Given the description of an element on the screen output the (x, y) to click on. 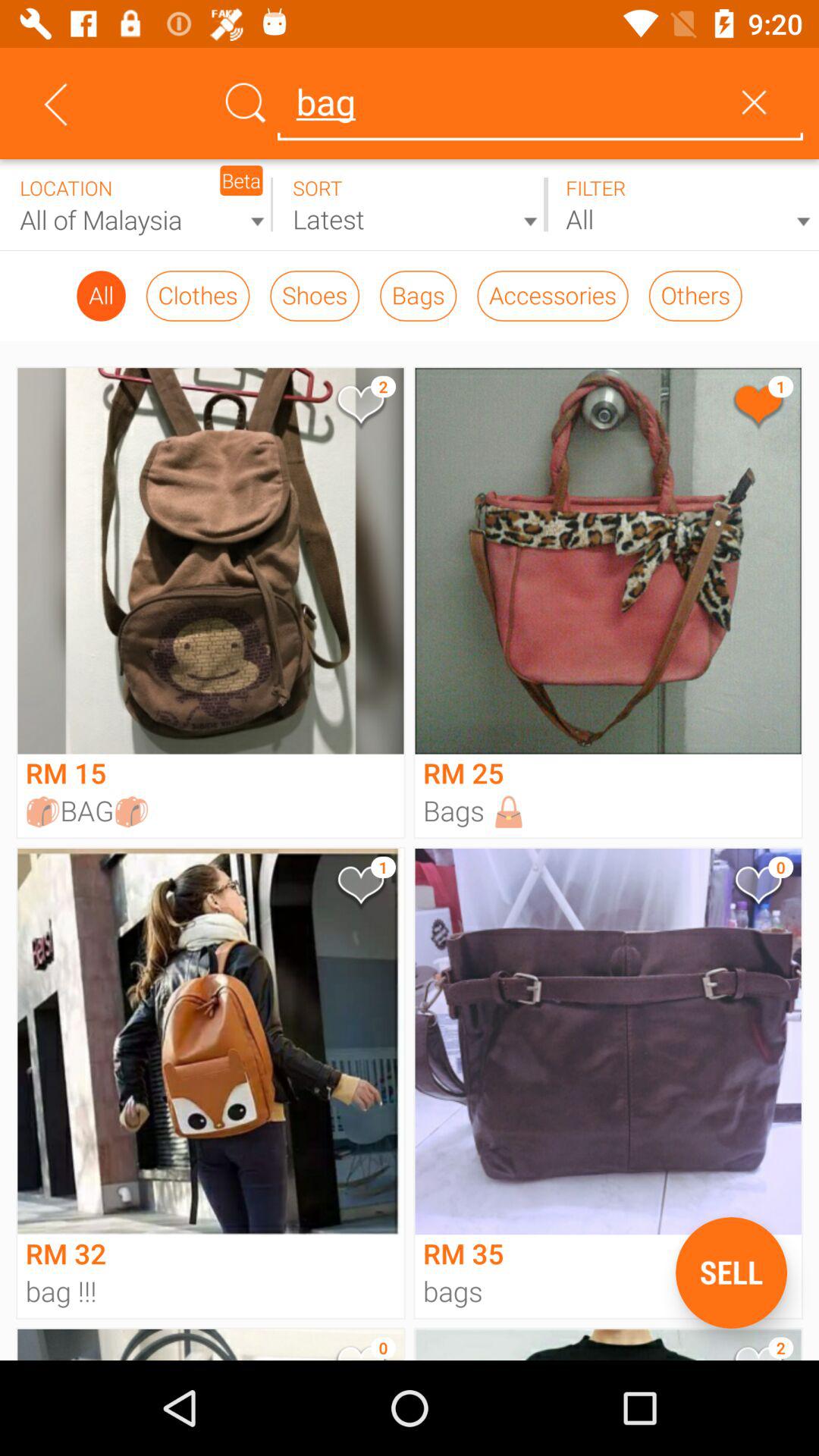
mark as favorite (757, 407)
